Given the description of an element on the screen output the (x, y) to click on. 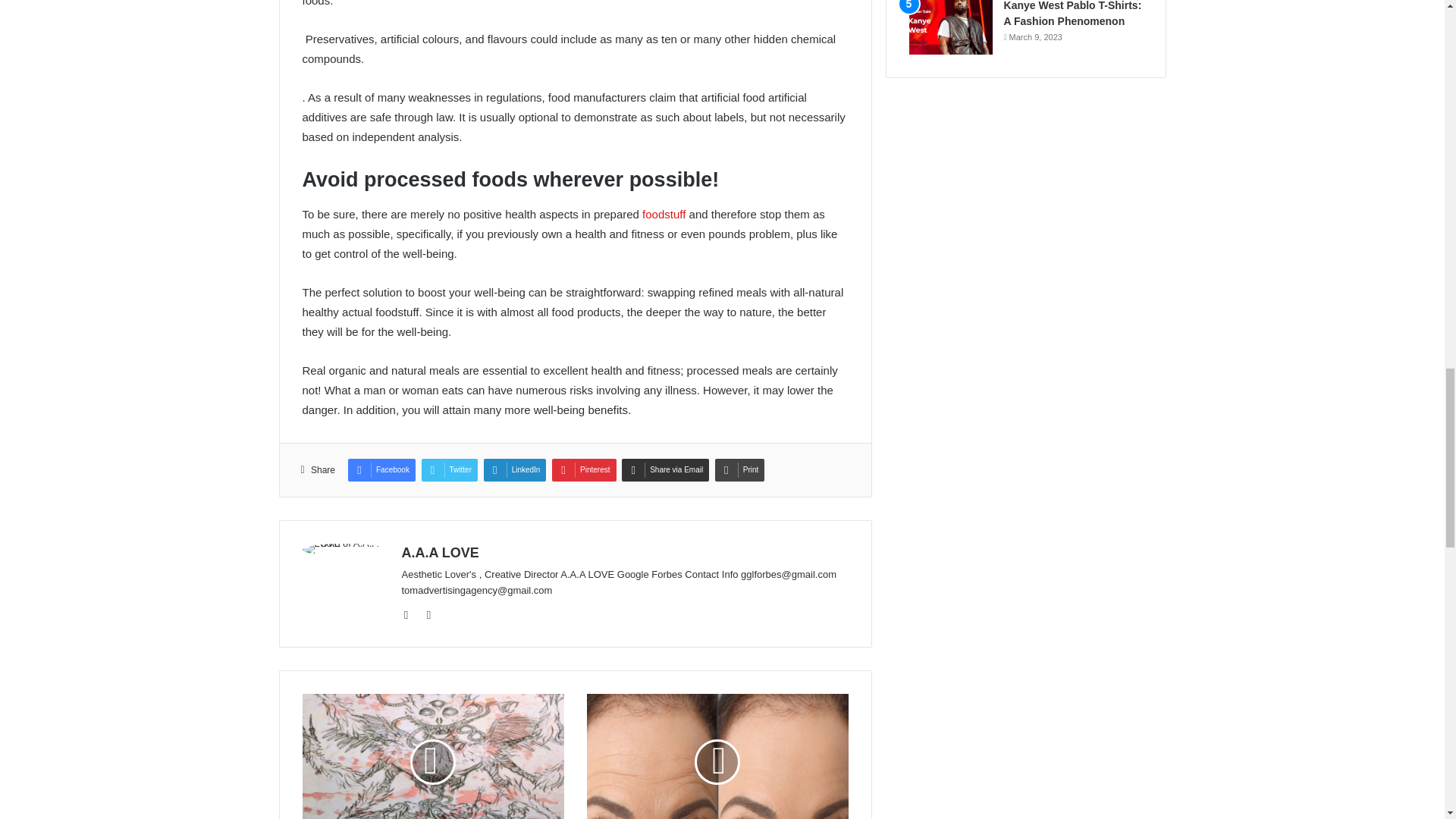
LinkedIn (515, 469)
Twitter (449, 469)
foodstuff (663, 214)
Pinterest (583, 469)
Print (739, 469)
Share via Email (665, 469)
Share via Email (665, 469)
Facebook (380, 469)
LinkedIn (515, 469)
Twitter (449, 469)
Print (739, 469)
Pinterest (583, 469)
Facebook (380, 469)
